Given the description of an element on the screen output the (x, y) to click on. 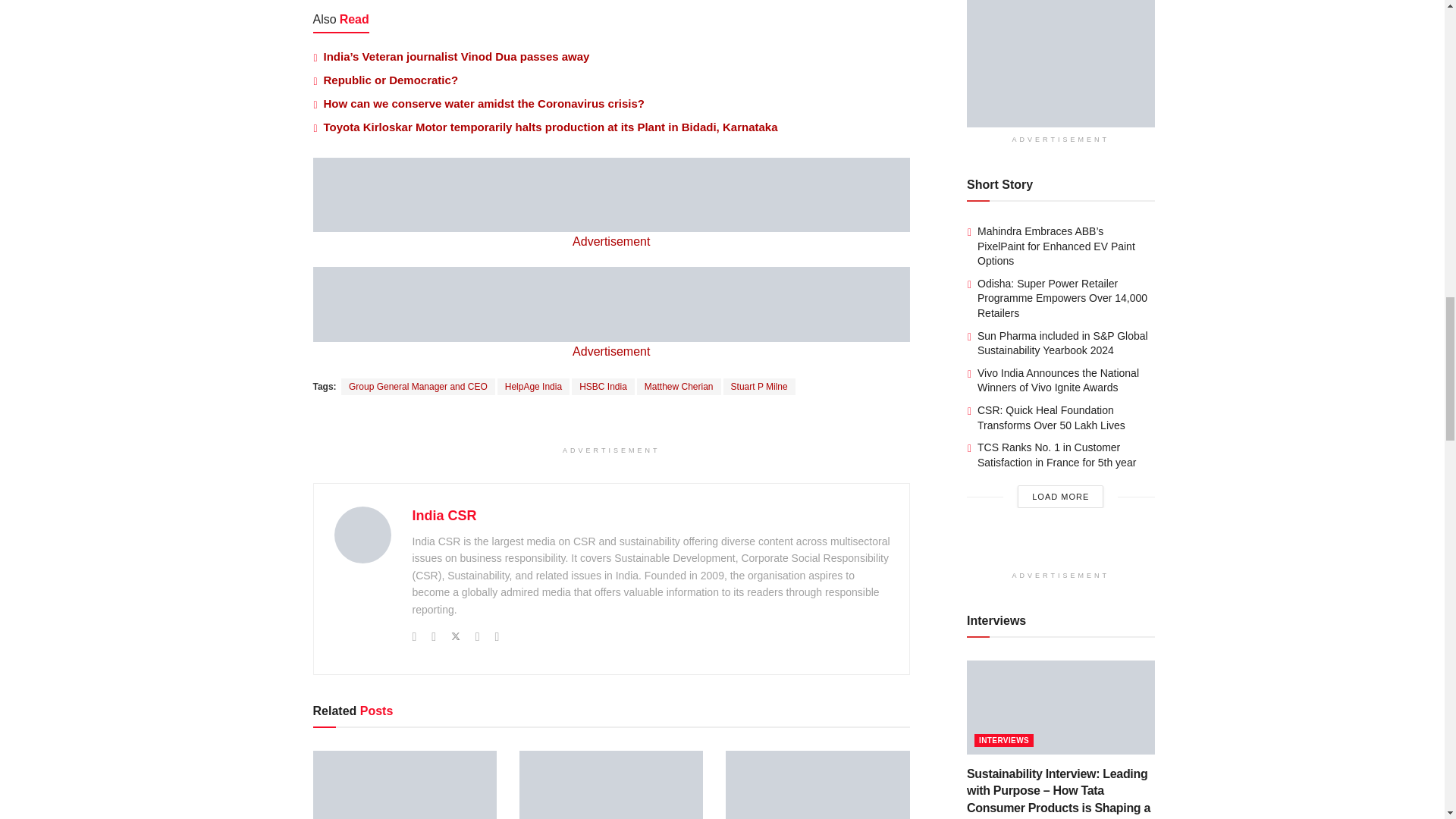
Republic or Democratic? 4 (611, 785)
How can we conserve water amidst the Coronavirus crisis? 5 (816, 785)
India's Veteran journalist Vinod Dua passes away 3 (404, 785)
